Given the description of an element on the screen output the (x, y) to click on. 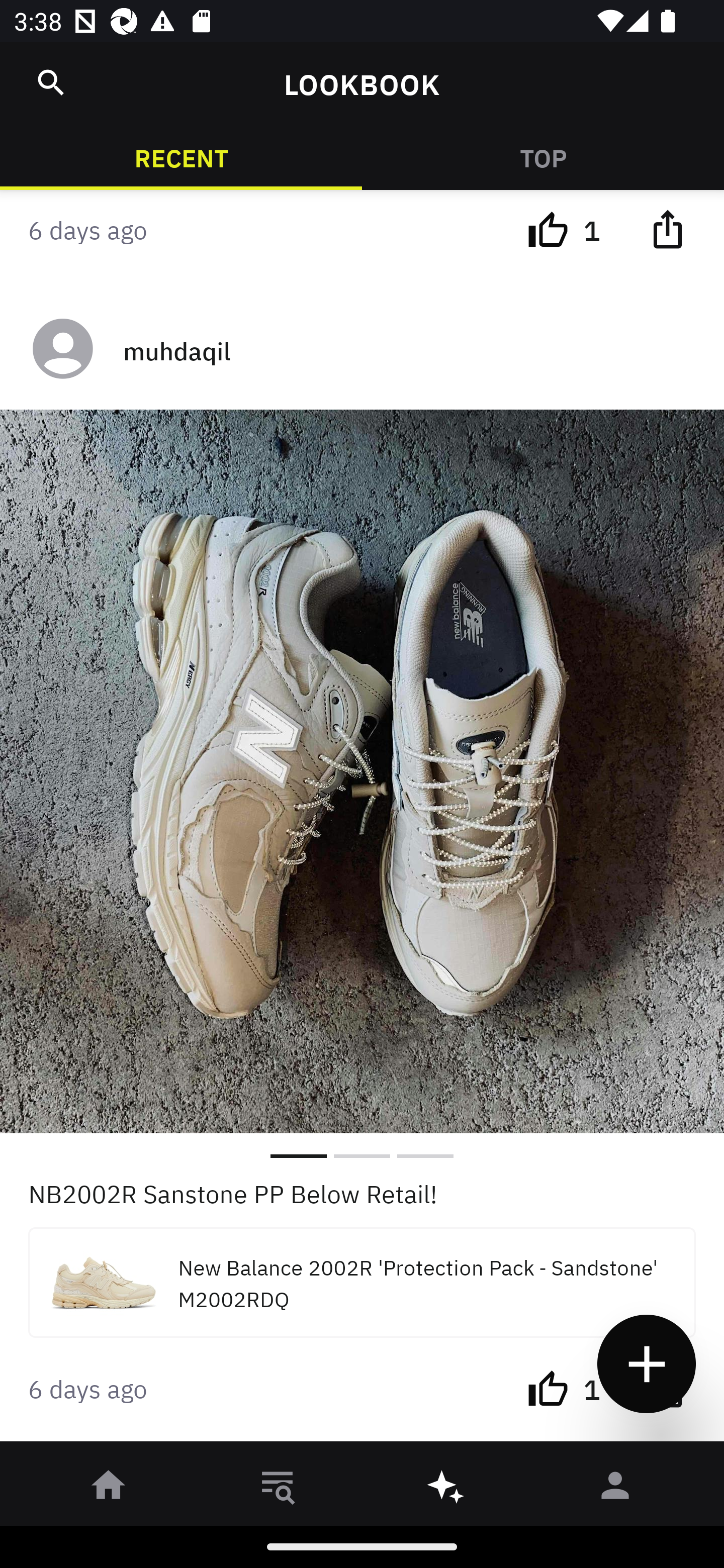
 (51, 82)
RECENT (181, 156)
TOP (543, 156)
󰔔 (547, 228)
 (667, 228)
NB2002R Sanstone PP Below Retail! (362, 1192)
󰔔 (547, 1387)
󰋜 (108, 1488)
󱎸 (277, 1488)
󰫢 (446, 1488)
󰀄 (615, 1488)
